Given the description of an element on the screen output the (x, y) to click on. 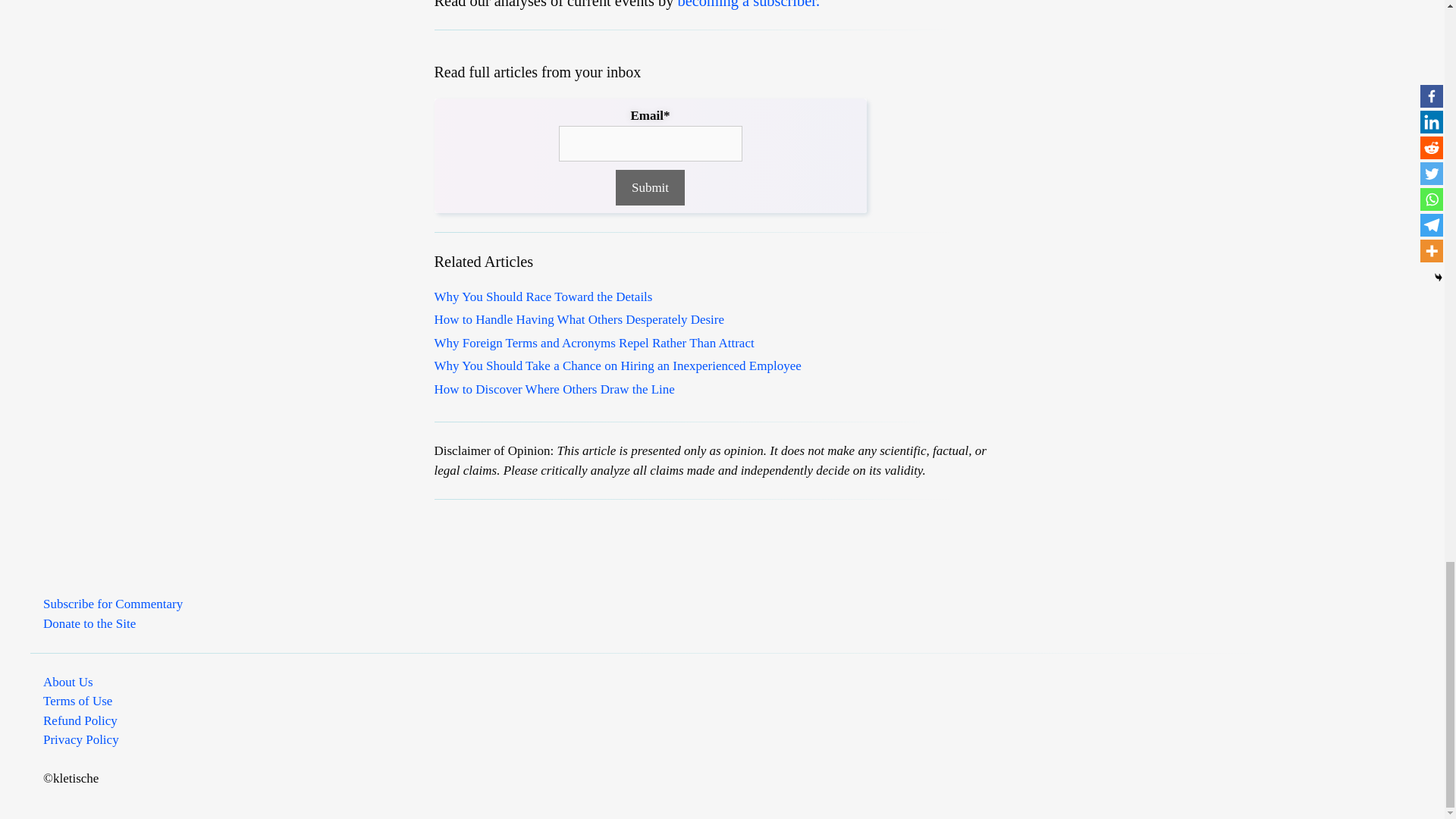
Submit (649, 187)
